Given the description of an element on the screen output the (x, y) to click on. 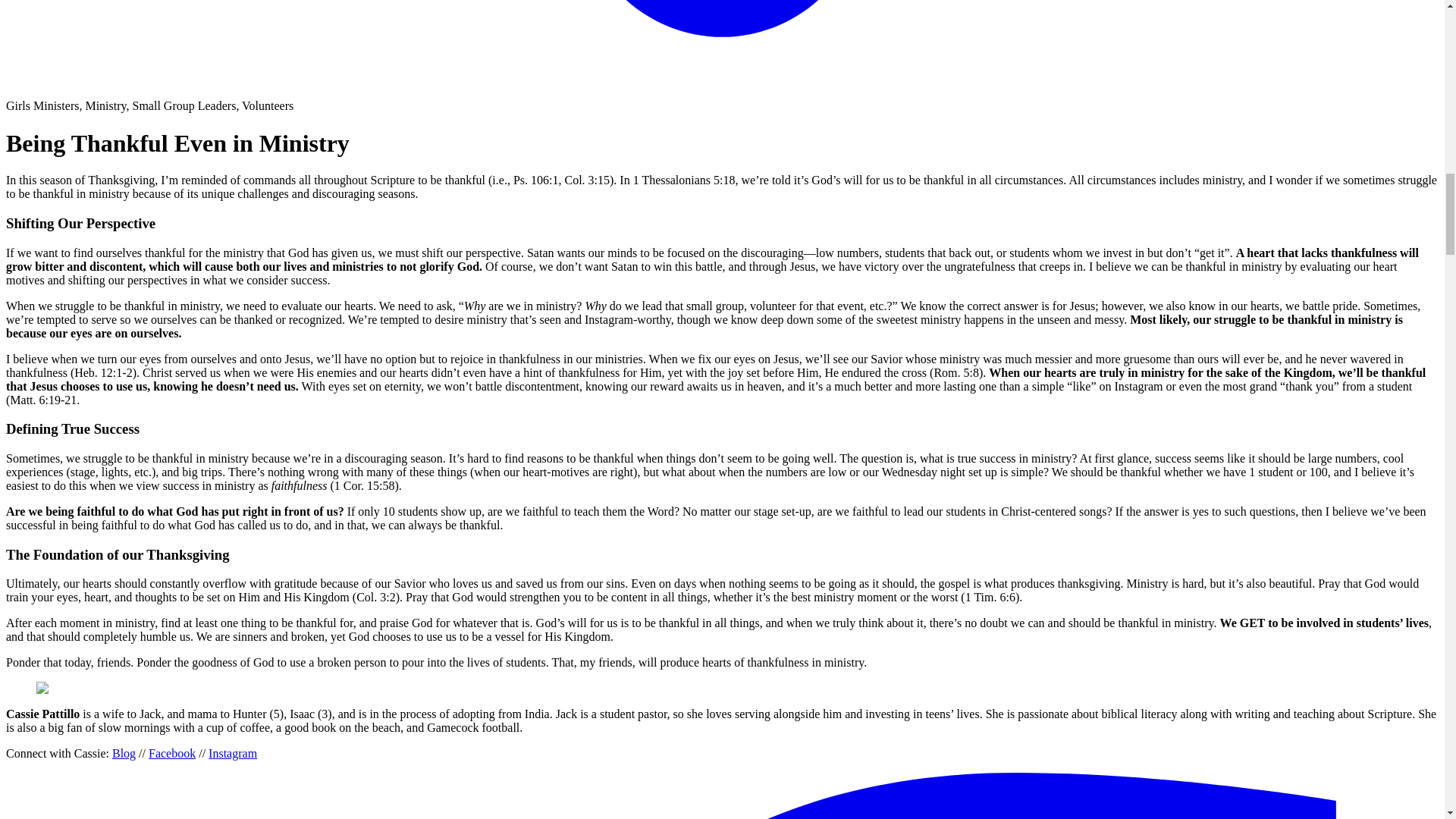
Blog (123, 753)
Instagram (232, 753)
Facebook (171, 753)
